Given the description of an element on the screen output the (x, y) to click on. 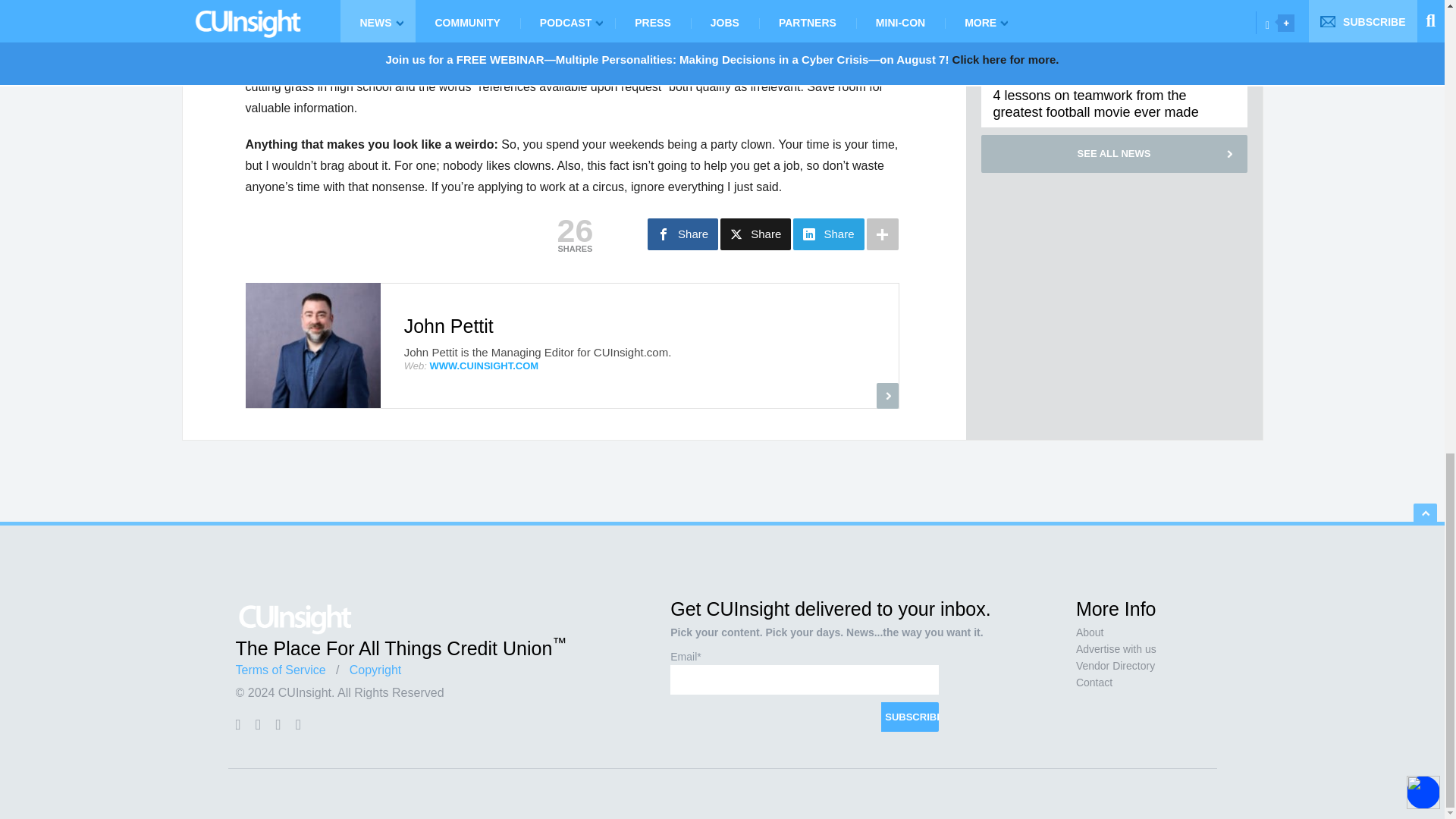
Subscribe (909, 716)
